Given the description of an element on the screen output the (x, y) to click on. 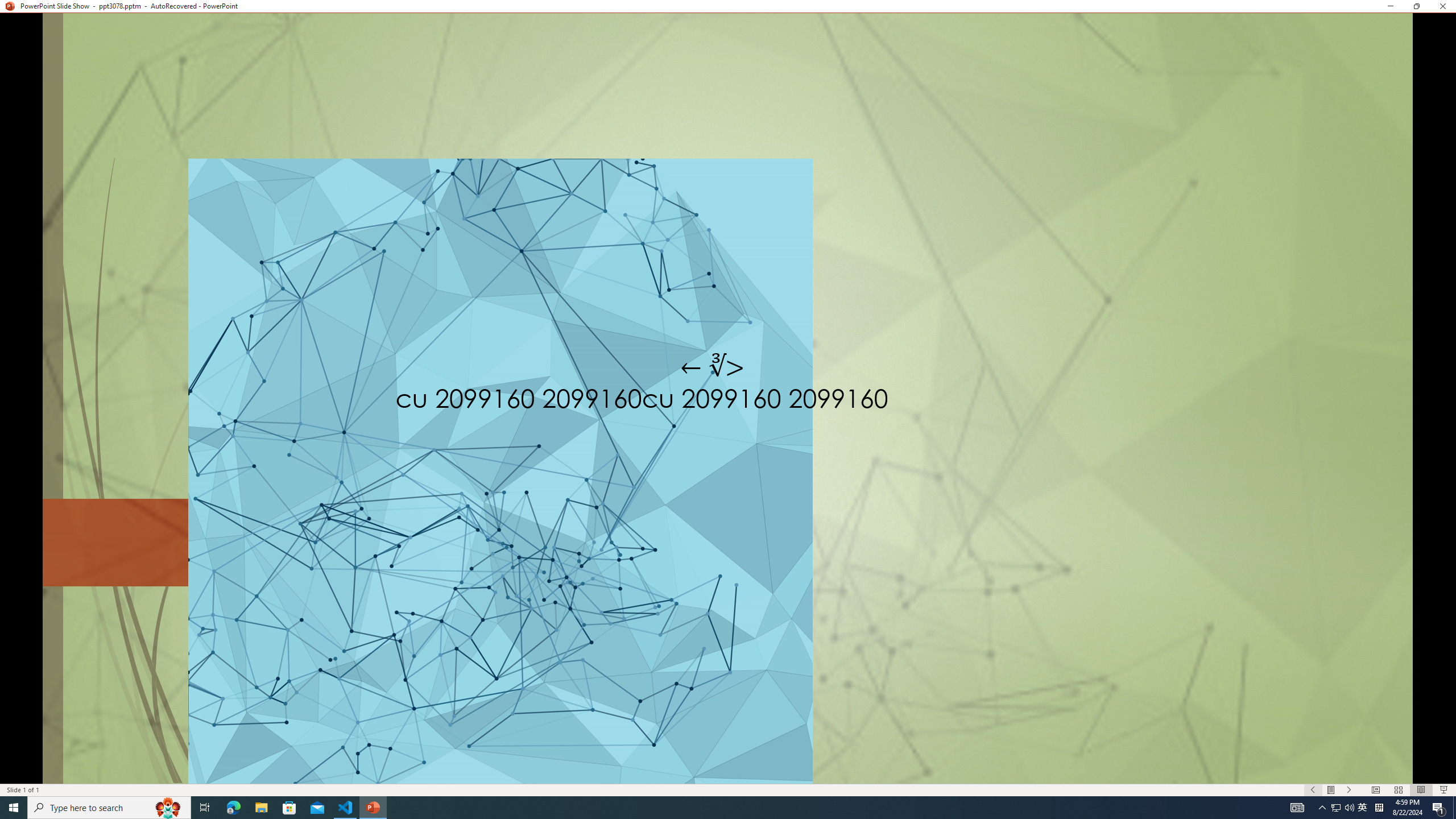
Slide Show Next On (1349, 790)
Menu On (1331, 790)
Slide Show Previous On (1313, 790)
